Given the description of an element on the screen output the (x, y) to click on. 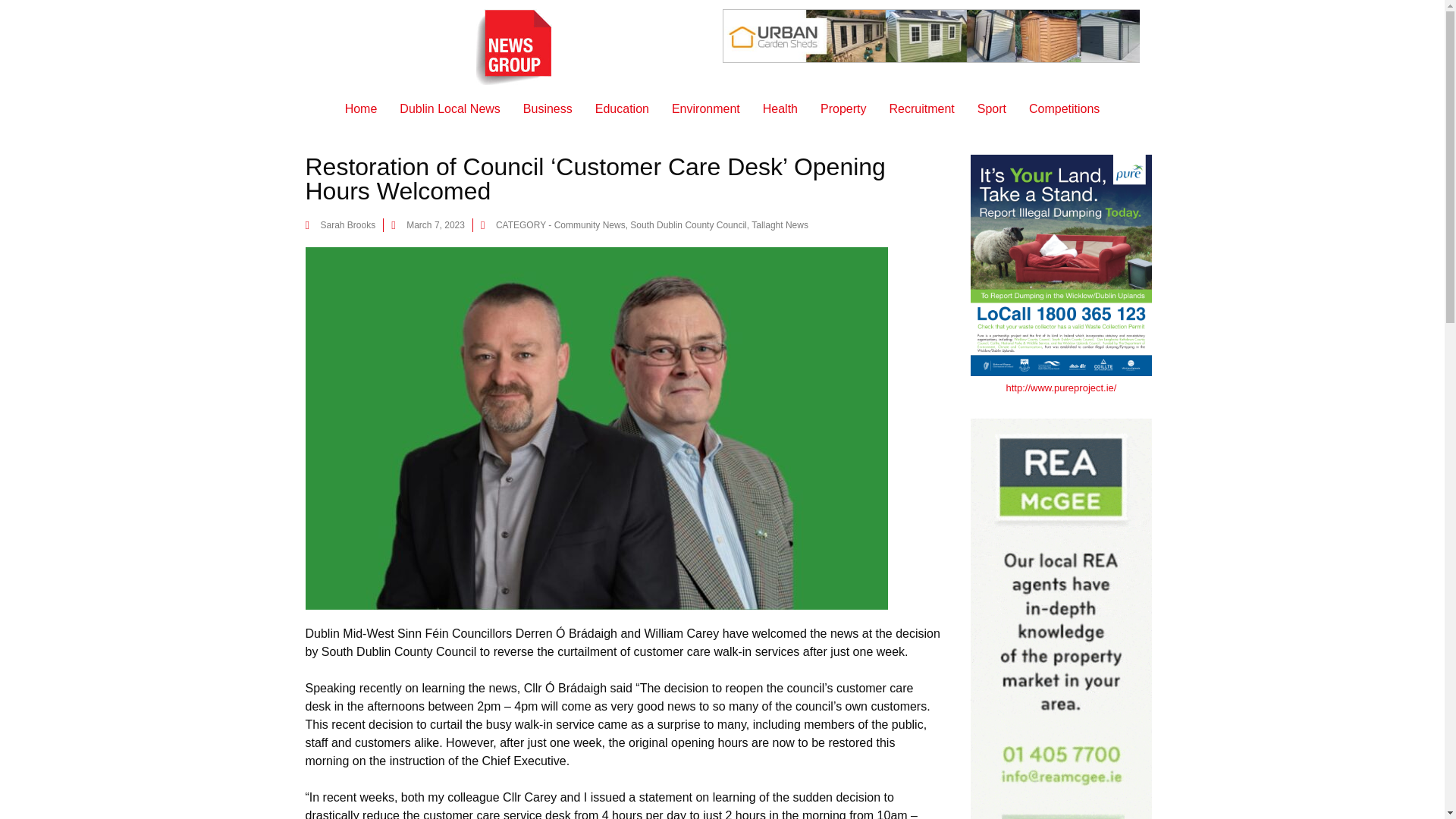
Community News (590, 225)
Recruitment (921, 109)
Property (843, 109)
South Dublin County Council (687, 225)
March 7, 2023 (427, 224)
Home (360, 109)
Business (547, 109)
Health (780, 109)
Competitions (1063, 109)
Tallaght News (779, 225)
